Given the description of an element on the screen output the (x, y) to click on. 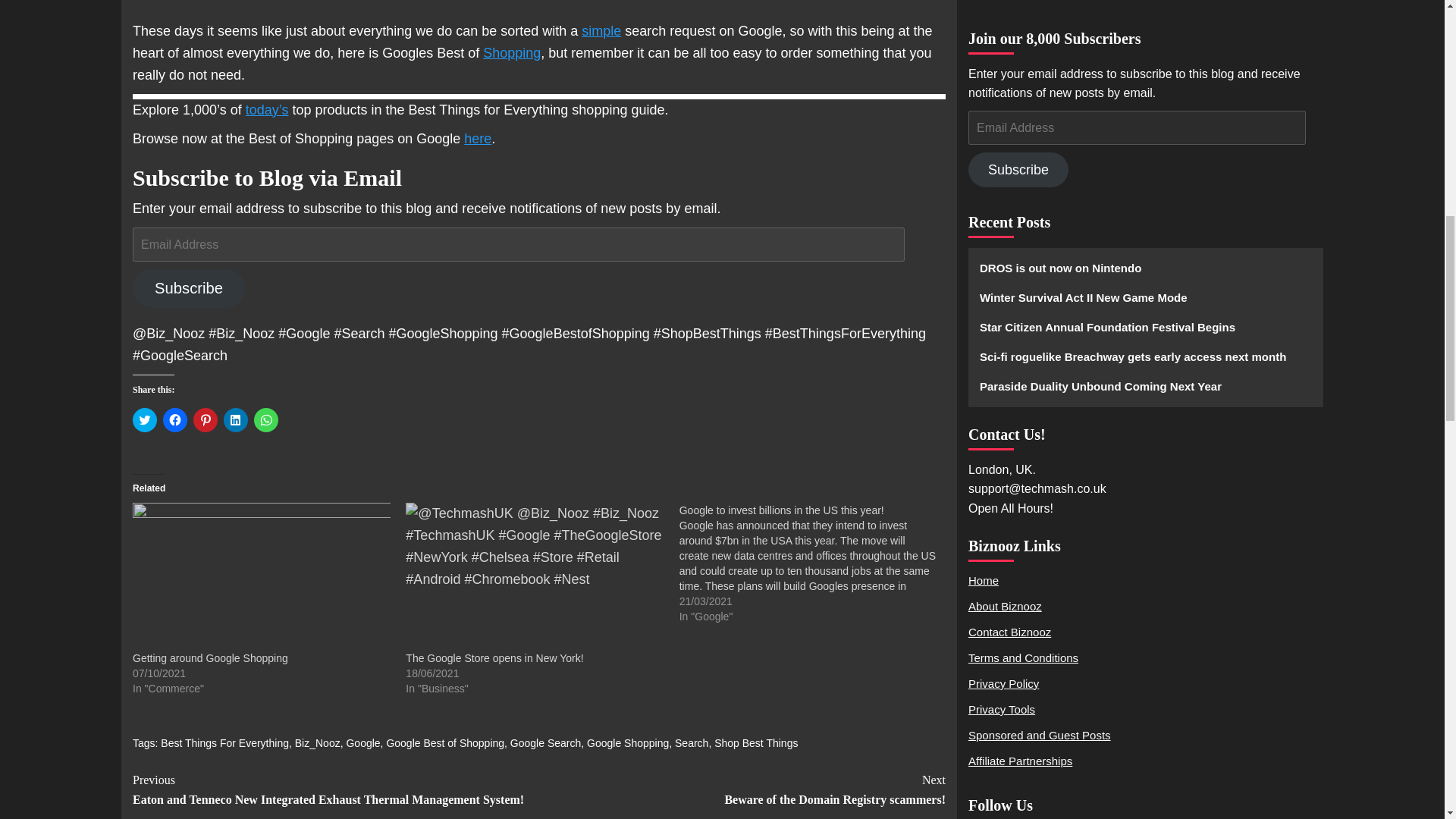
Getting around Google Shopping (210, 657)
Google to invest billions in the US this year! (781, 510)
The Google Store opens in New York! (494, 657)
Google Search (545, 743)
Shop Best Things (755, 743)
Google Shopping (627, 743)
Click to share on Pinterest (204, 419)
Click to share on LinkedIn (235, 419)
Getting around Google Shopping (261, 576)
Getting around Google Shopping (210, 657)
Google (363, 743)
Subscribe (188, 288)
Google Best of Shopping (444, 743)
Best Things For Everything (224, 743)
Shopping (511, 52)
